Given the description of an element on the screen output the (x, y) to click on. 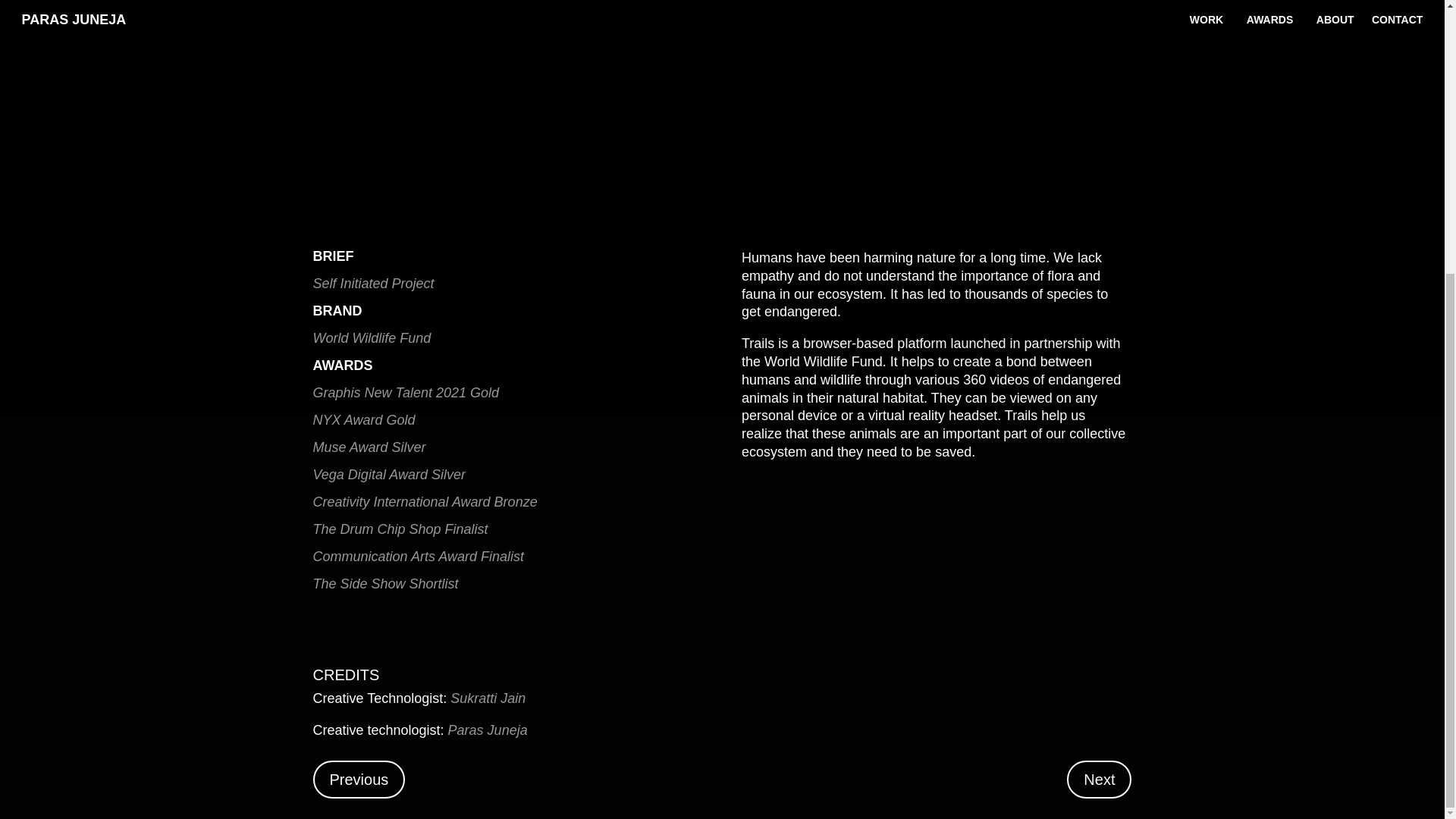
Previous (358, 779)
Next (1099, 779)
